Given the description of an element on the screen output the (x, y) to click on. 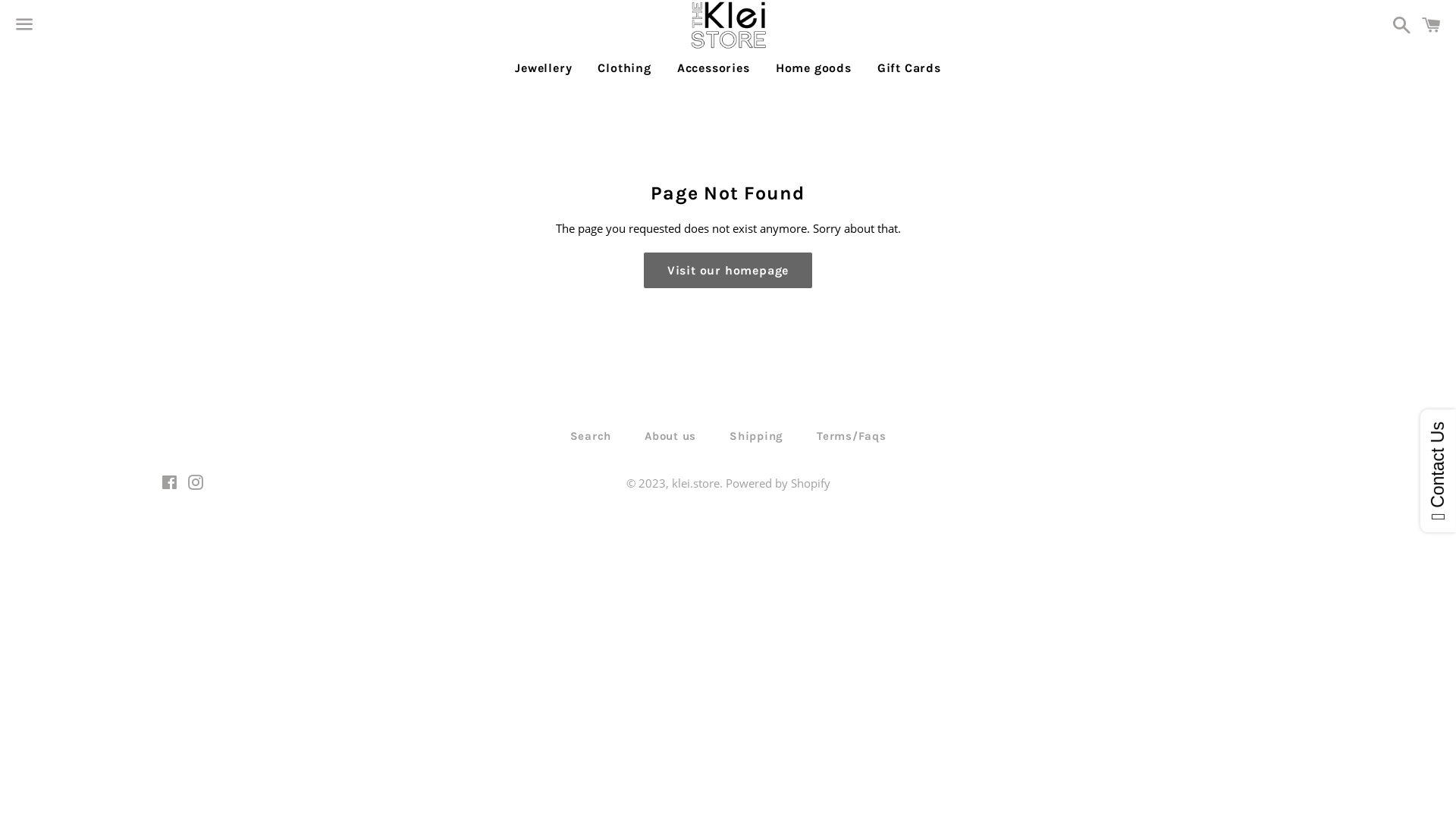
Accessories Element type: text (713, 68)
Clothing Element type: text (624, 68)
Instagram Element type: text (195, 483)
Terms/Faqs Element type: text (851, 436)
Gift Cards Element type: text (909, 68)
Search Element type: text (1397, 24)
About us Element type: text (670, 436)
Powered by Shopify Element type: text (776, 482)
Search Element type: text (591, 436)
Menu Element type: text (24, 24)
Visit our homepage Element type: text (727, 270)
Shipping Element type: text (756, 436)
Facebook Element type: text (168, 483)
klei.store Element type: text (695, 482)
Jewellery Element type: text (543, 68)
Cart Element type: text (1431, 24)
Home goods Element type: text (813, 68)
